Given the description of an element on the screen output the (x, y) to click on. 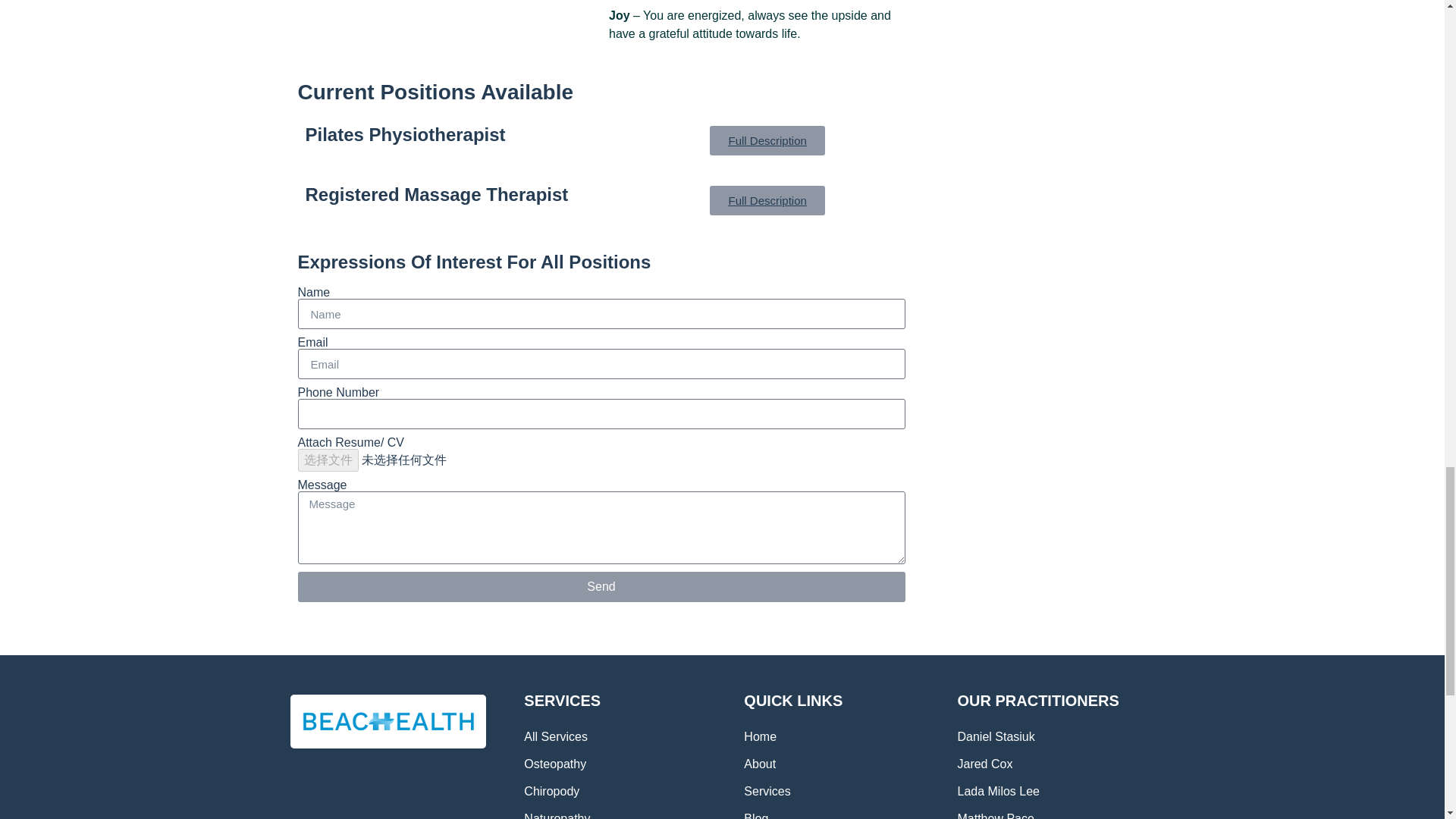
Send (600, 586)
Full Description (767, 200)
Full Description (767, 140)
